Given the description of an element on the screen output the (x, y) to click on. 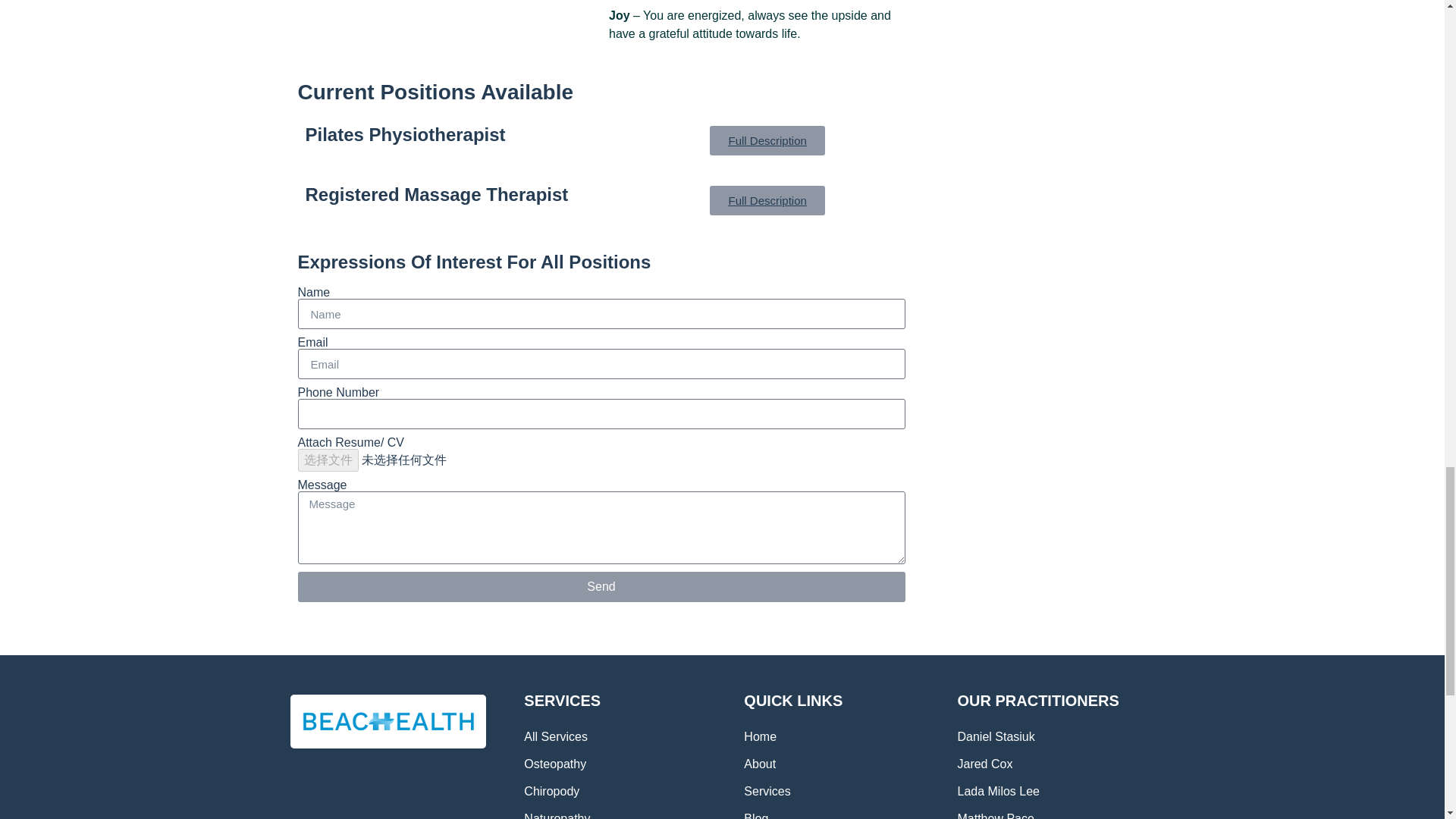
Send (600, 586)
Full Description (767, 200)
Full Description (767, 140)
